Given the description of an element on the screen output the (x, y) to click on. 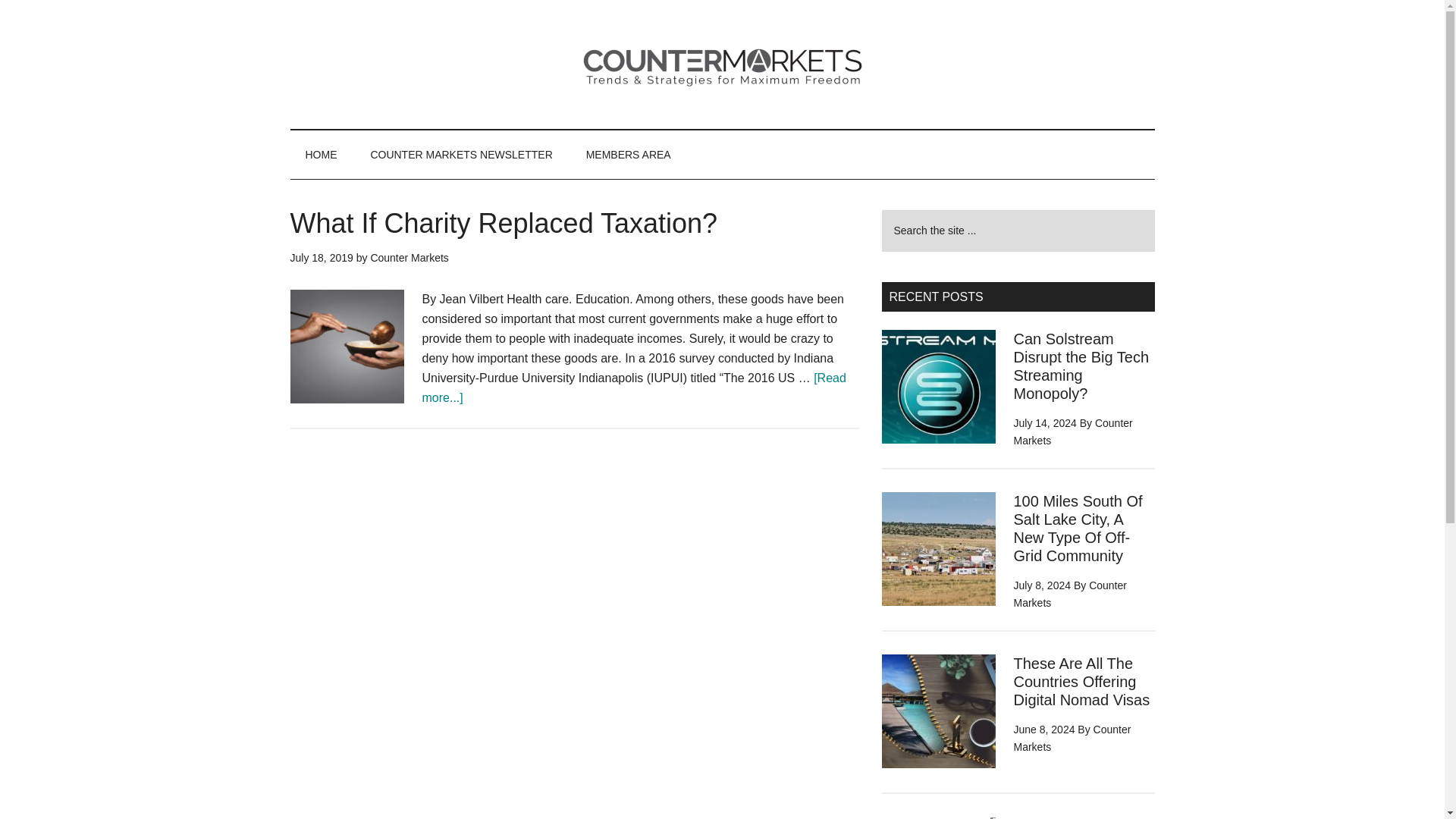
MEMBERS AREA (627, 154)
Counter Markets (1072, 431)
COUNTER MARKETS NEWSLETTER (461, 154)
These Are All The Countries Offering Digital Nomad Visas (1081, 681)
What If Charity Replaced Taxation? (503, 223)
Counter Markets (1069, 594)
Counter Markets (408, 257)
